Given the description of an element on the screen output the (x, y) to click on. 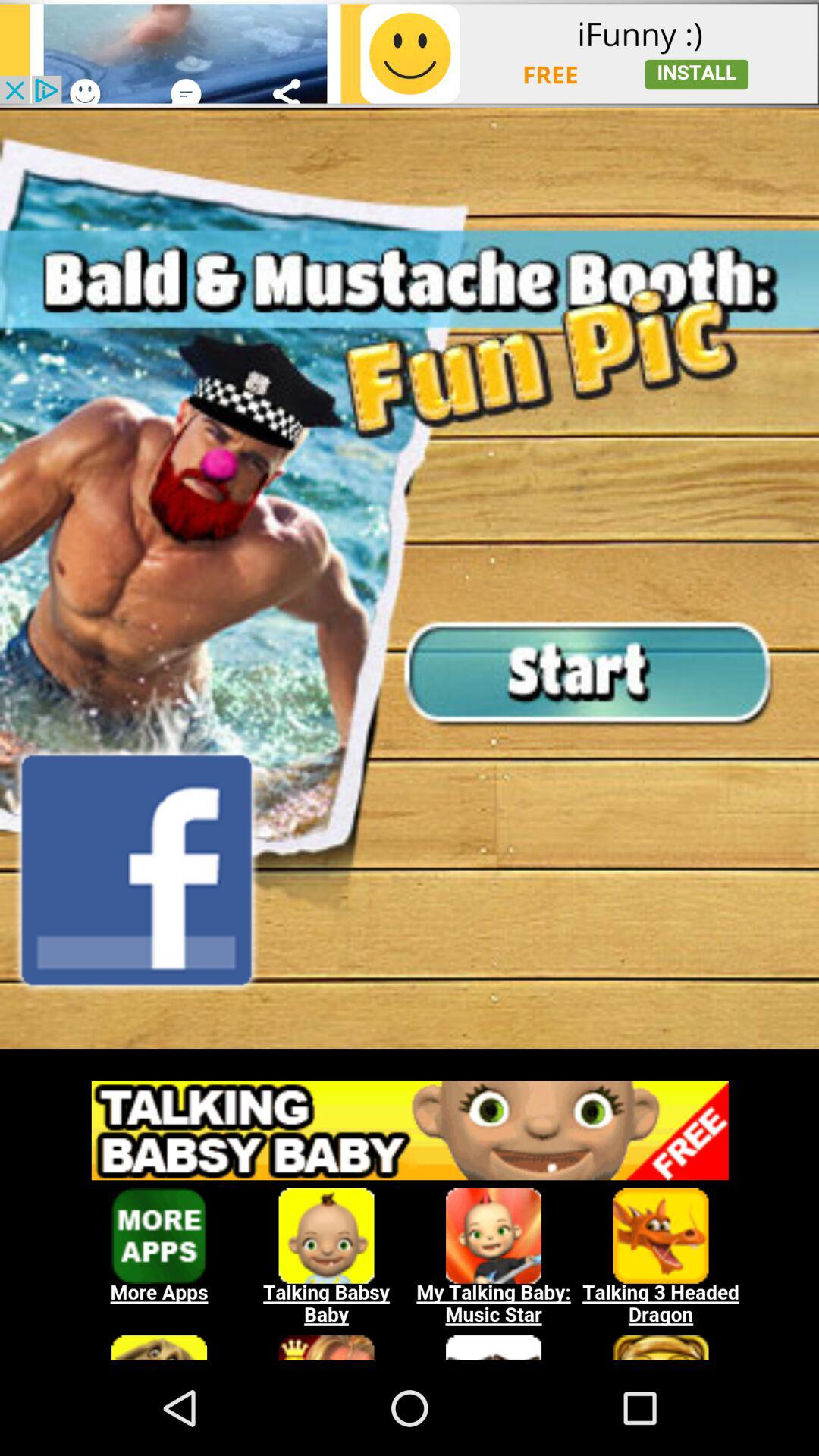
opens the advertisement (409, 1212)
